Given the description of an element on the screen output the (x, y) to click on. 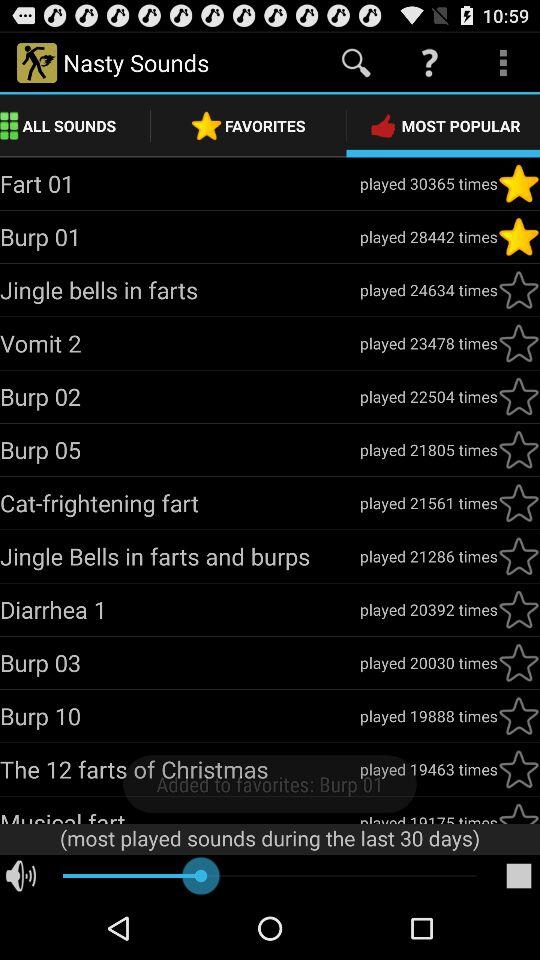
select the burp 10 app (180, 715)
